Given the description of an element on the screen output the (x, y) to click on. 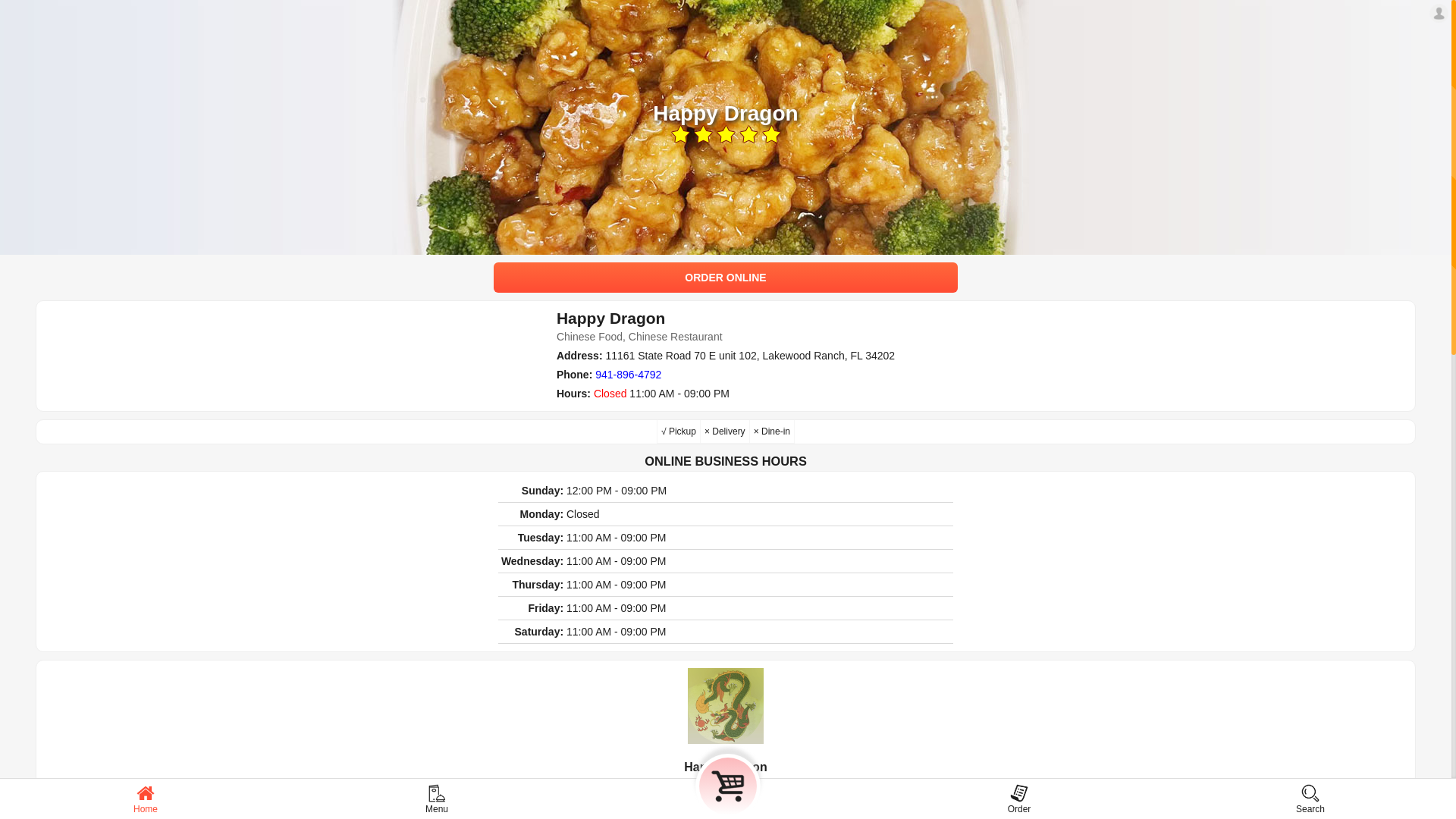
Cart Element type: hover (727, 786)
ORDER ONLINE Element type: text (725, 277)
Happy Dragon Element type: hover (725, 705)
User Center Element type: hover (1438, 12)
